Given the description of an element on the screen output the (x, y) to click on. 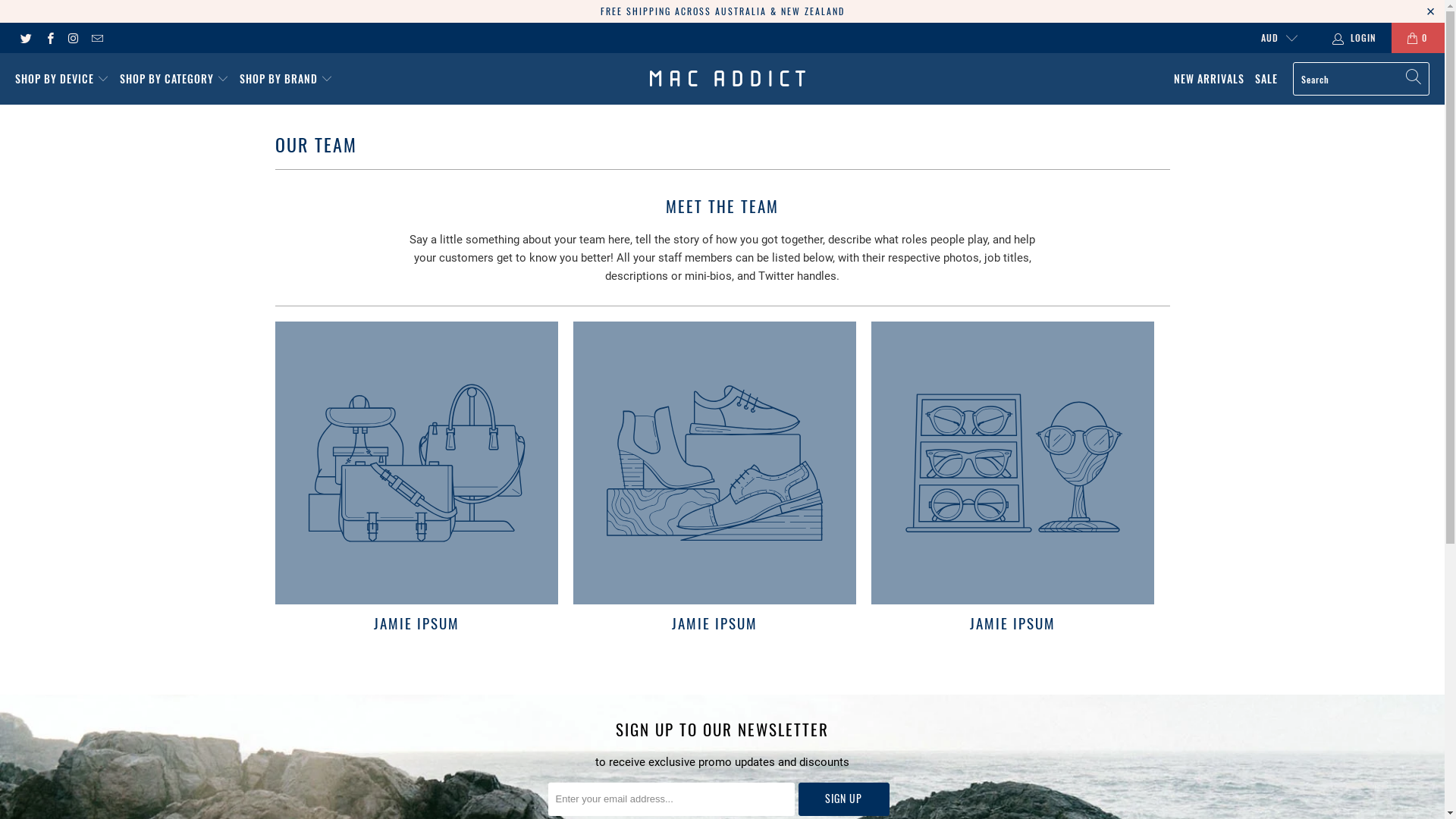
Mac Addict on Facebook Element type: hover (48, 37)
LOGIN Element type: text (1355, 37)
AUD Element type: text (1272, 37)
NEW ARRIVALS Element type: text (1208, 78)
Mac Addict Element type: hover (727, 78)
Sign Up Element type: text (842, 798)
Email Mac Addict Element type: hover (96, 37)
SHOP BY BRAND Element type: text (285, 78)
Mac Addict on Twitter Element type: hover (24, 37)
0 Element type: text (1417, 37)
Mac Addict on Instagram Element type: hover (72, 37)
SHOP BY CATEGORY Element type: text (174, 78)
SALE Element type: text (1266, 78)
SHOP BY DEVICE Element type: text (62, 78)
